Given the description of an element on the screen output the (x, y) to click on. 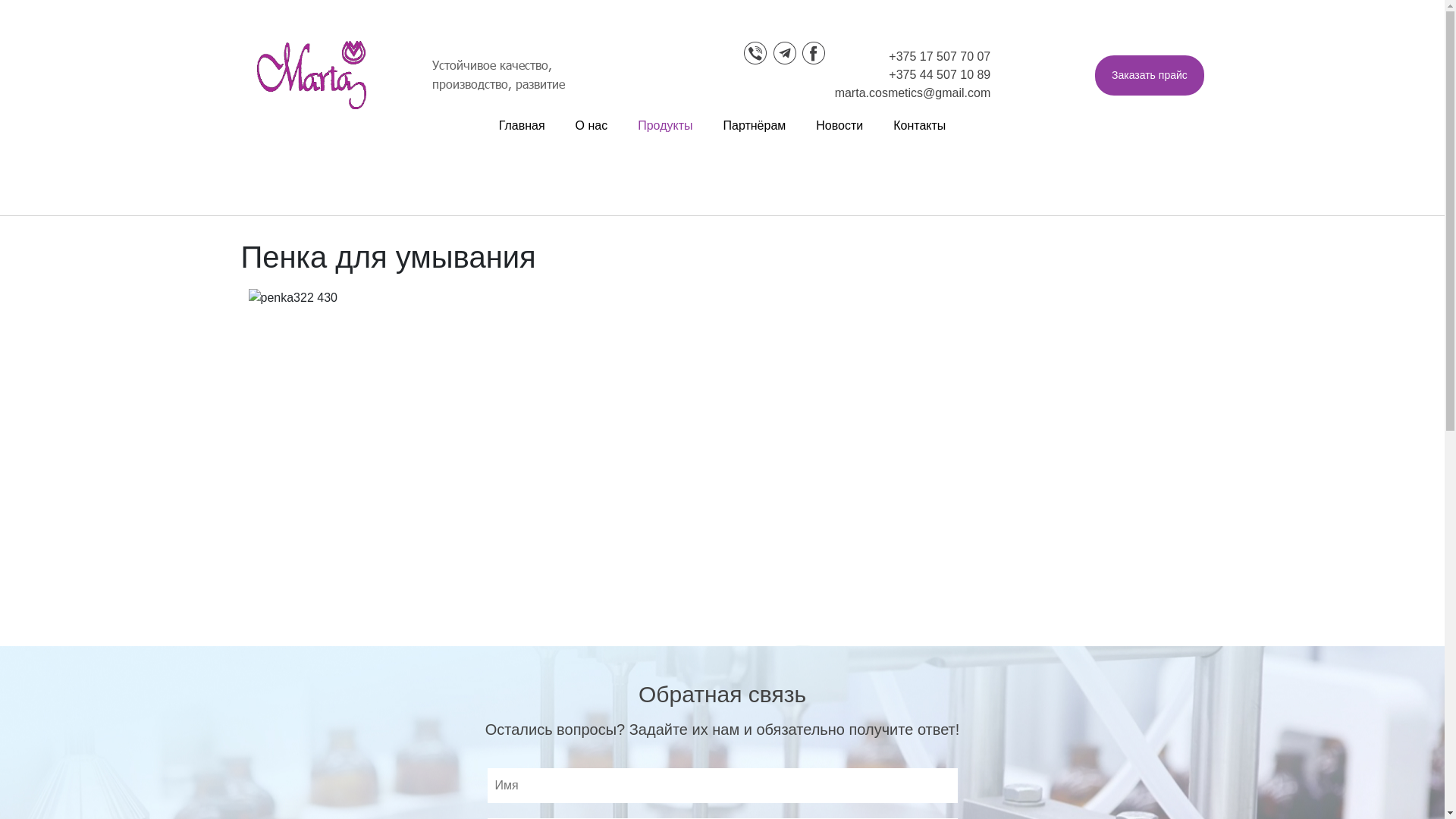
marta.cosmetics@gmail.com Element type: text (912, 92)
+375 17 507 70 07 Element type: text (939, 56)
+375 44 507 10 89 Element type: text (939, 74)
